Given the description of an element on the screen output the (x, y) to click on. 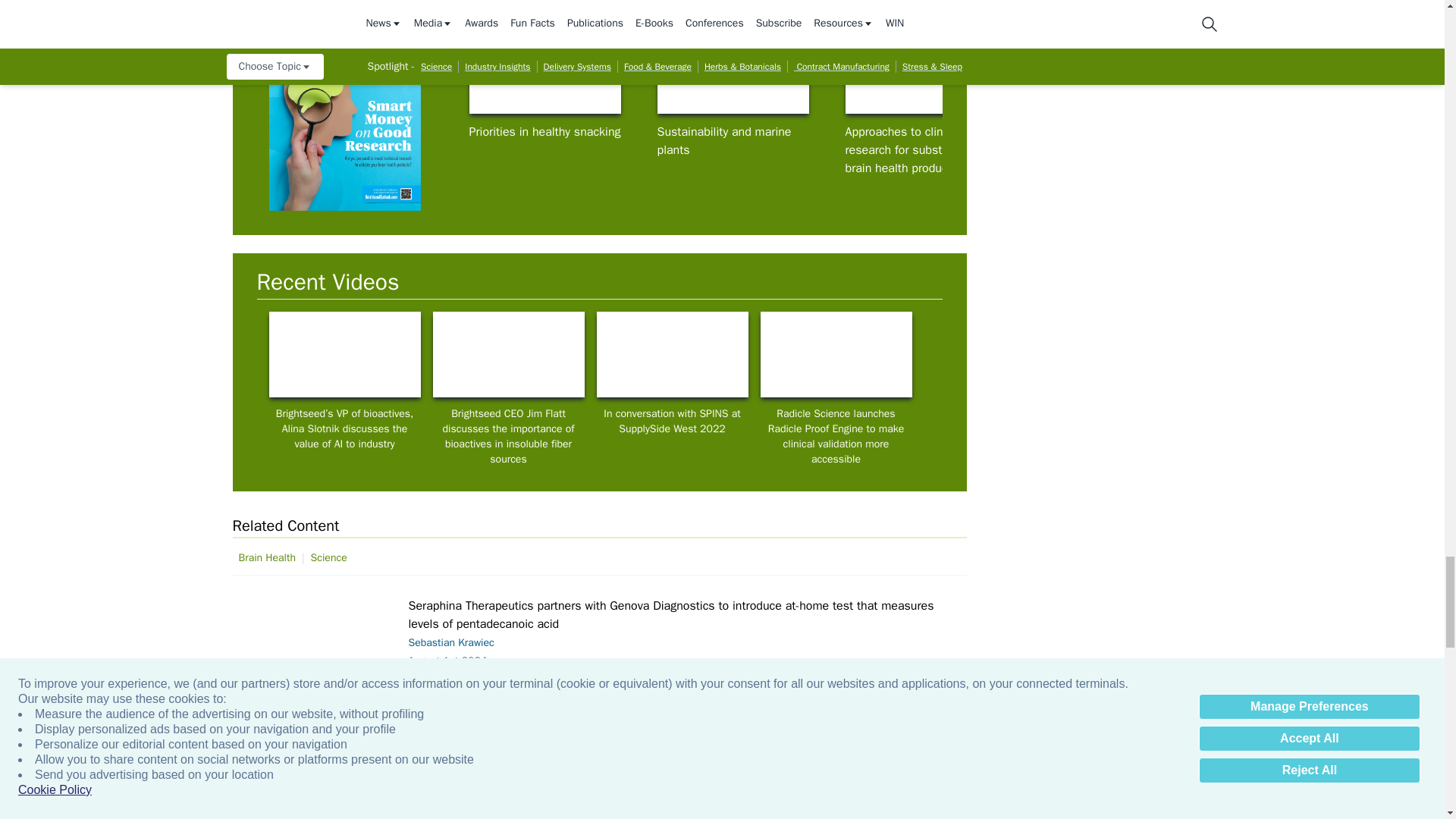
seaweed illustration (732, 70)
mitochondria (317, 659)
woman at desk snacking on nuts (544, 70)
woman working on laptop computer by window (835, 354)
vitamin K2 (1108, 70)
In conversation with SPINS at SupplySide West 2022 (671, 354)
